Given the description of an element on the screen output the (x, y) to click on. 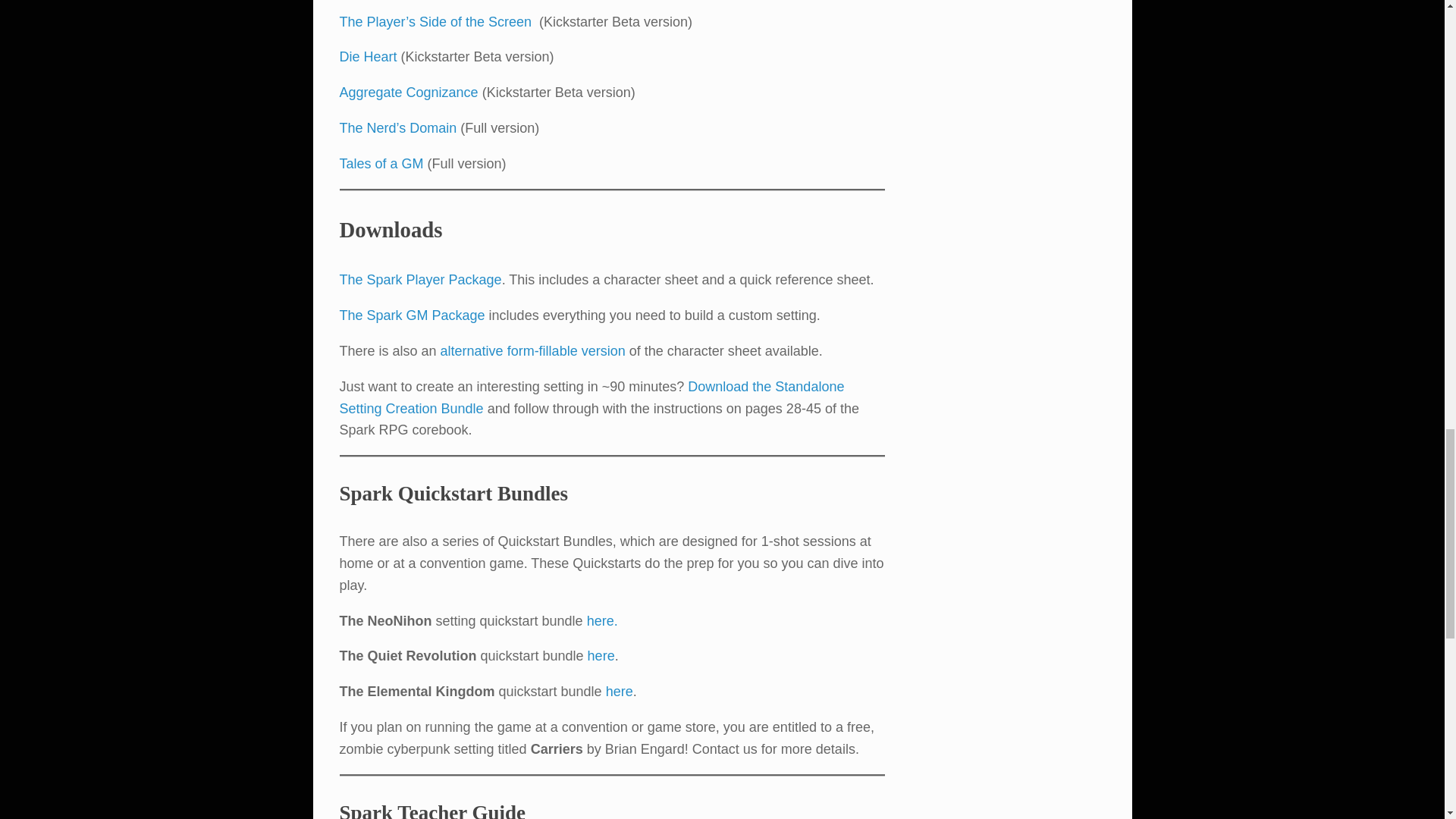
The Spark Player Package (420, 279)
alternative form-fillable version (533, 350)
Download the Standalone Setting Creation Bundle (591, 397)
The Spark GM Package (411, 314)
Die Heart (368, 56)
Tales of a GM (381, 163)
Aggregate Cognizance (409, 92)
